Given the description of an element on the screen output the (x, y) to click on. 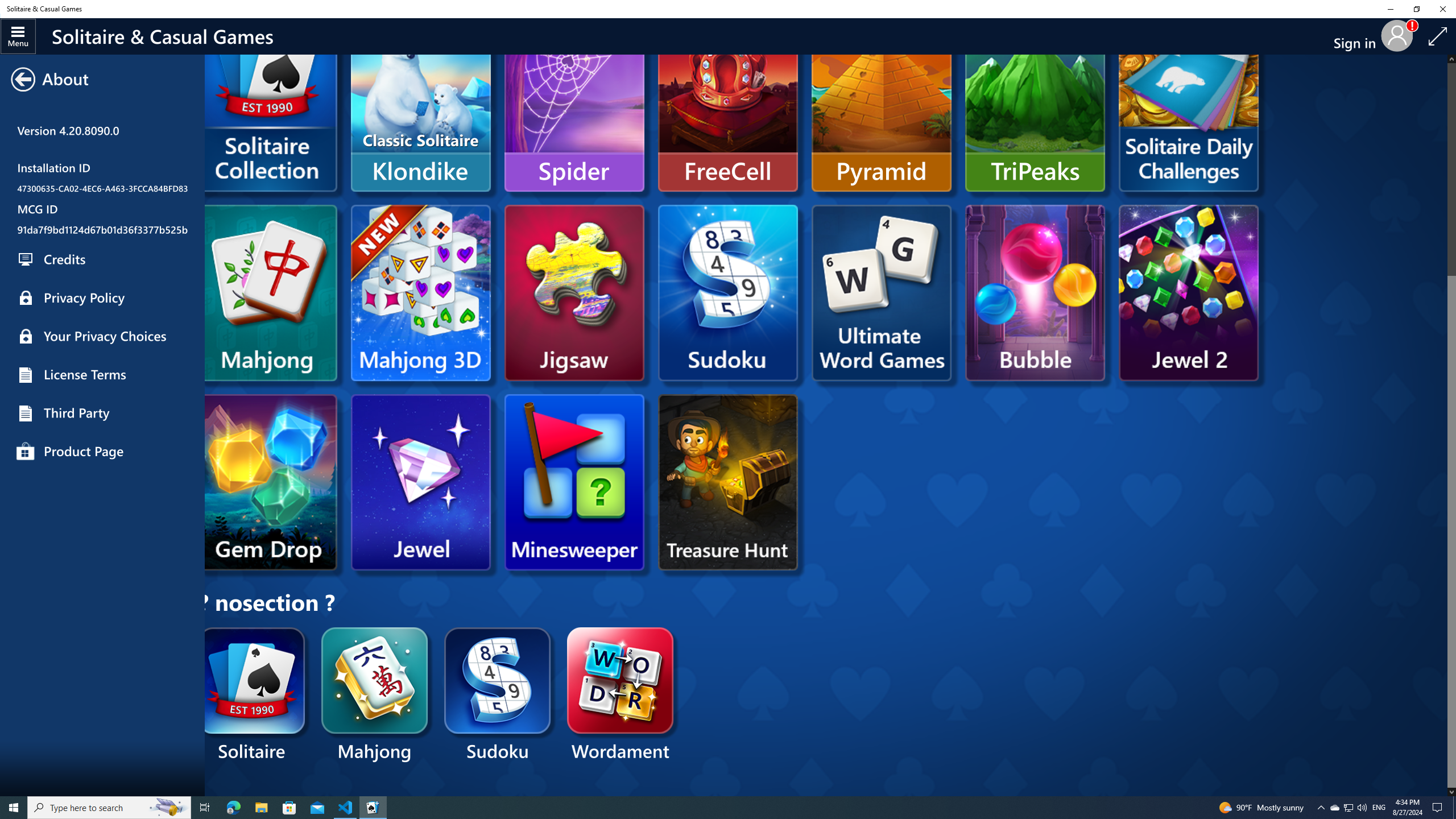
AutomationID: down_arrow_0 (1451, 791)
About (102, 220)
Minimize Solitaire & Casual Games (1390, 9)
Tray Input Indicator - English (United States) (1378, 807)
Privacy Policy (102, 297)
Microsoft Mahjong (271, 292)
Solitaire (252, 695)
Solitaire & Casual Games - 1 running window (373, 807)
Wordament (620, 695)
Microsoft Solitaire Collection (267, 120)
Challenges (1187, 103)
TriPeaks (1035, 103)
